Given the description of an element on the screen output the (x, y) to click on. 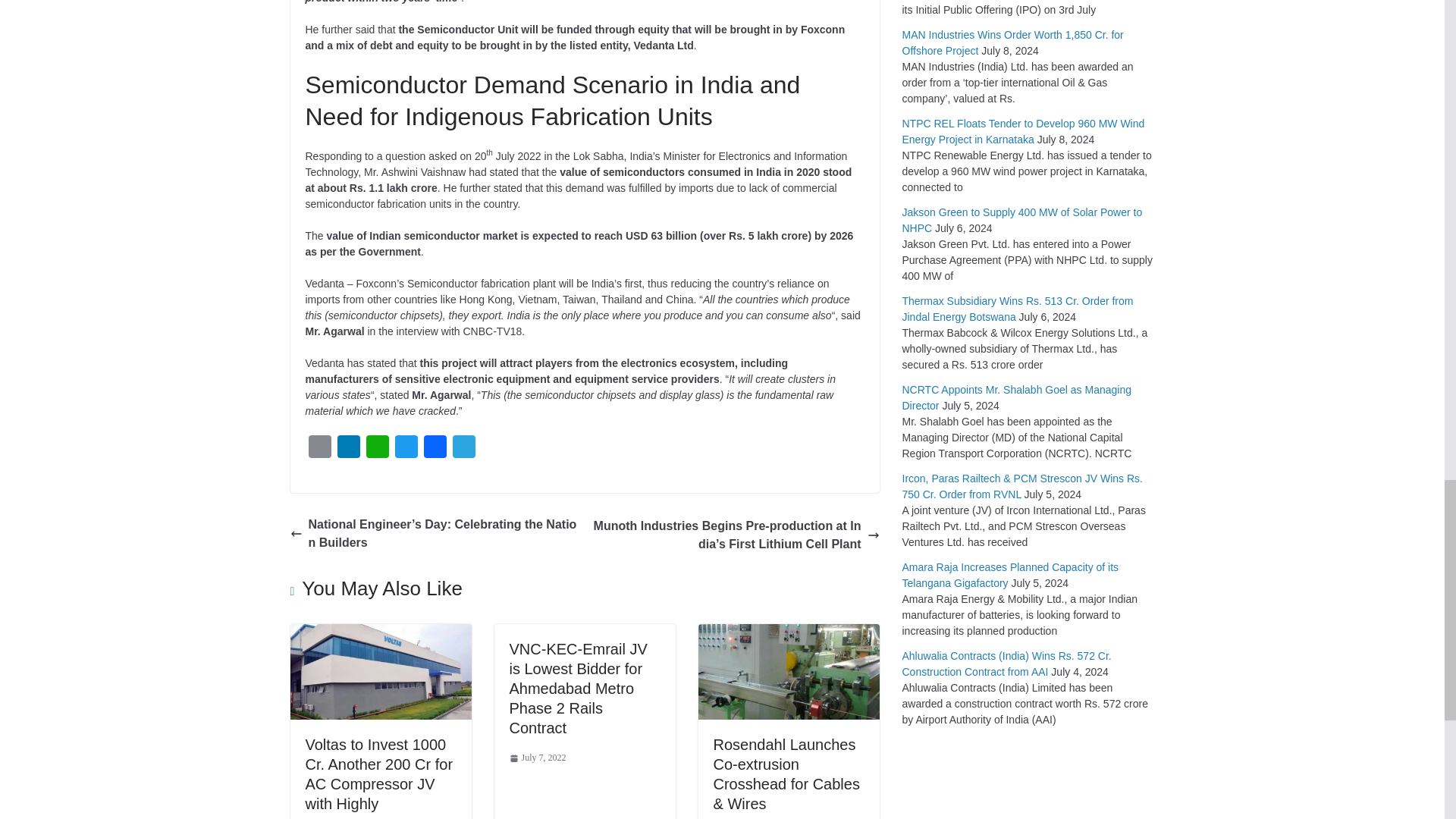
Twitter (405, 450)
LinkedIn (347, 450)
Copy Link (318, 450)
WhatsApp (376, 450)
